Given the description of an element on the screen output the (x, y) to click on. 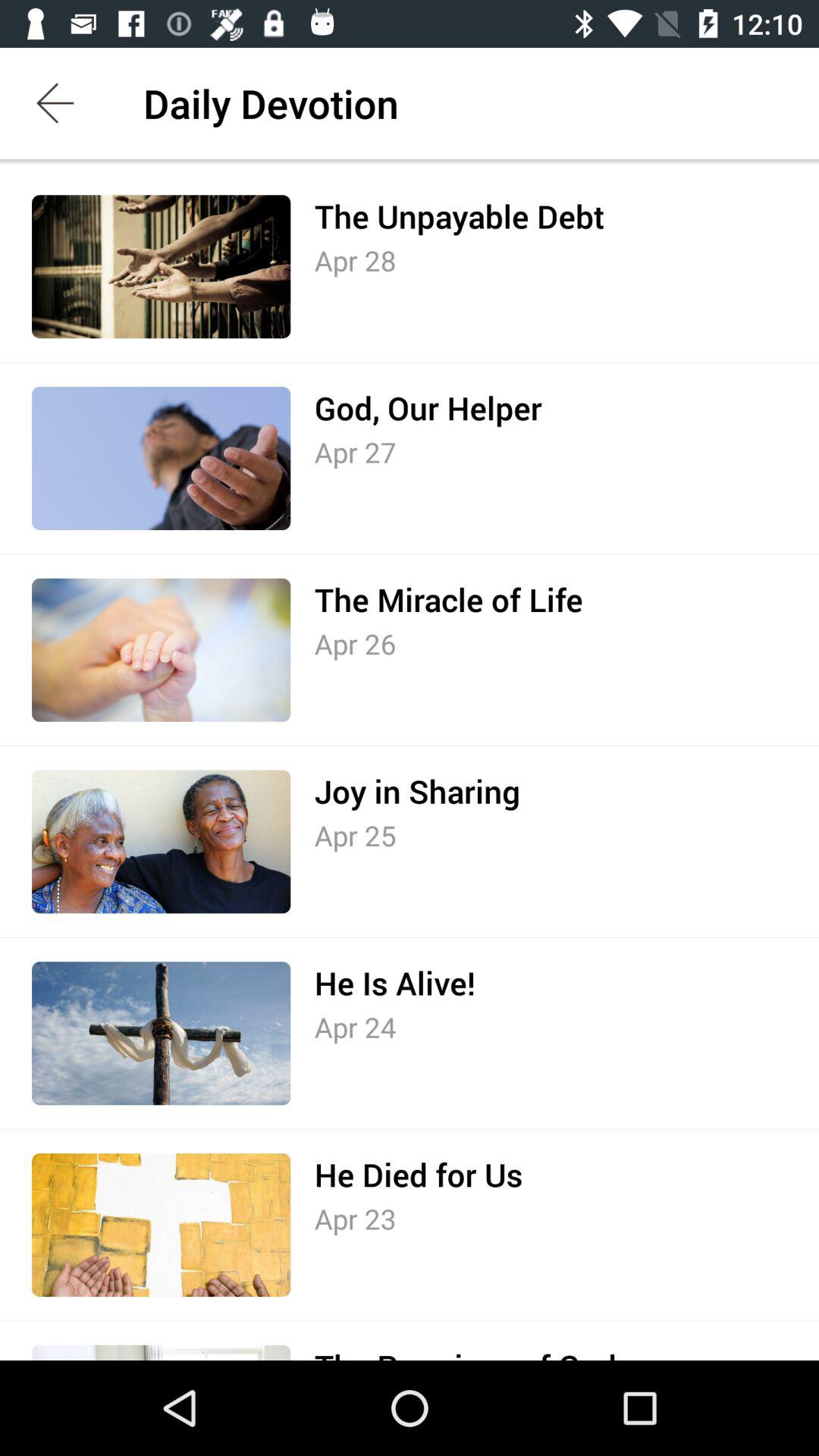
scroll until the apr 23 item (355, 1218)
